Given the description of an element on the screen output the (x, y) to click on. 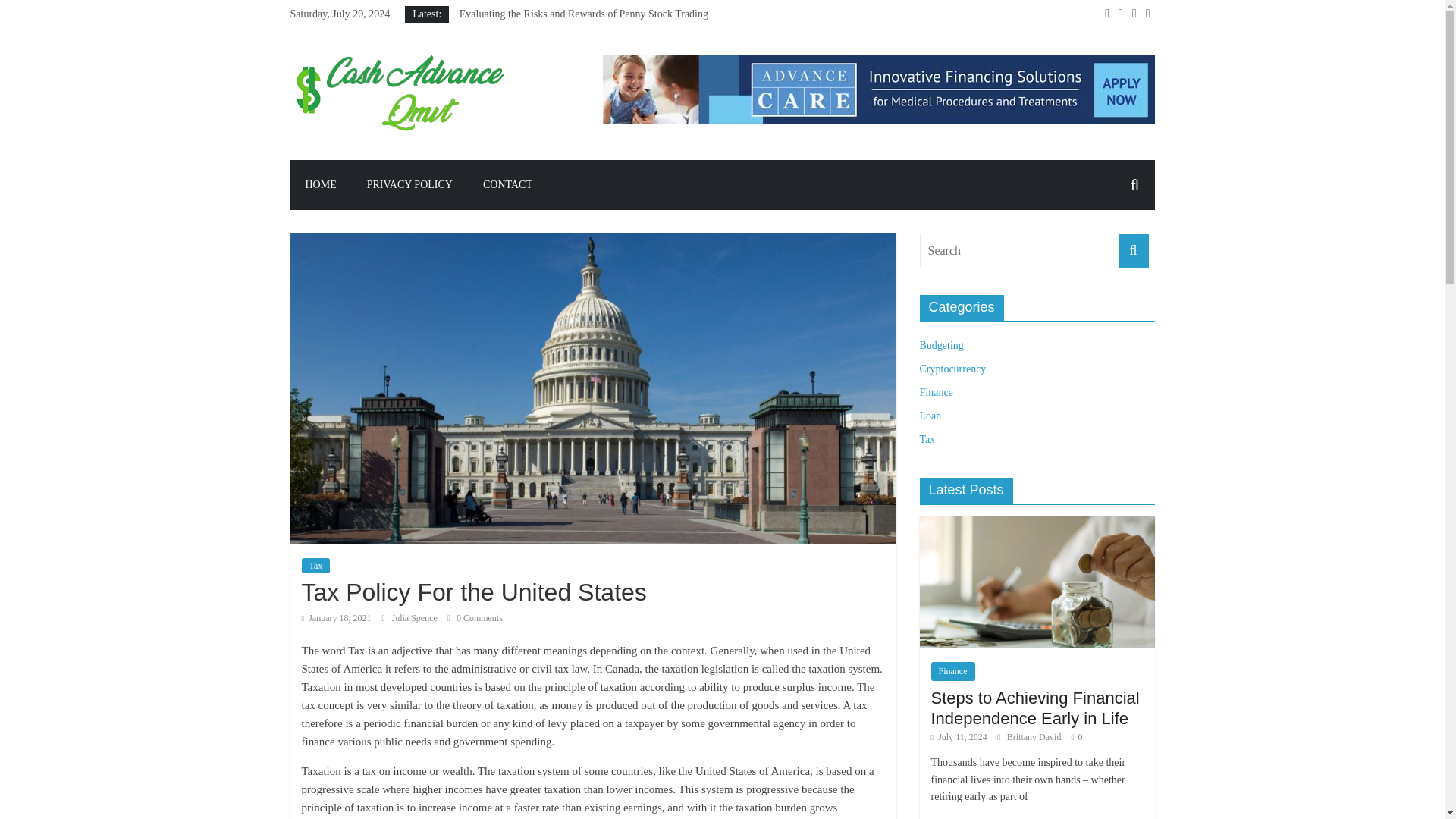
Budgeting Tips For Millennials (526, 48)
Tax Deductions Every Small Business Owner Should Know About (602, 30)
CONTACT (507, 184)
Steps to Achieving Financial Independence Early in Life (1036, 582)
Evaluating the Risks and Rewards of Penny Stock Trading (583, 13)
July 11, 2024 (959, 737)
Steps to Achieving Financial Independence Early in Life (580, 64)
PRIVACY POLICY (409, 184)
Tax (926, 439)
Brittany David (1035, 737)
Evaluating the Risks and Rewards of Penny Stock Trading (583, 13)
Budgeting (940, 345)
Steps to Achieving Financial Independence Early in Life (1035, 707)
